Given the description of an element on the screen output the (x, y) to click on. 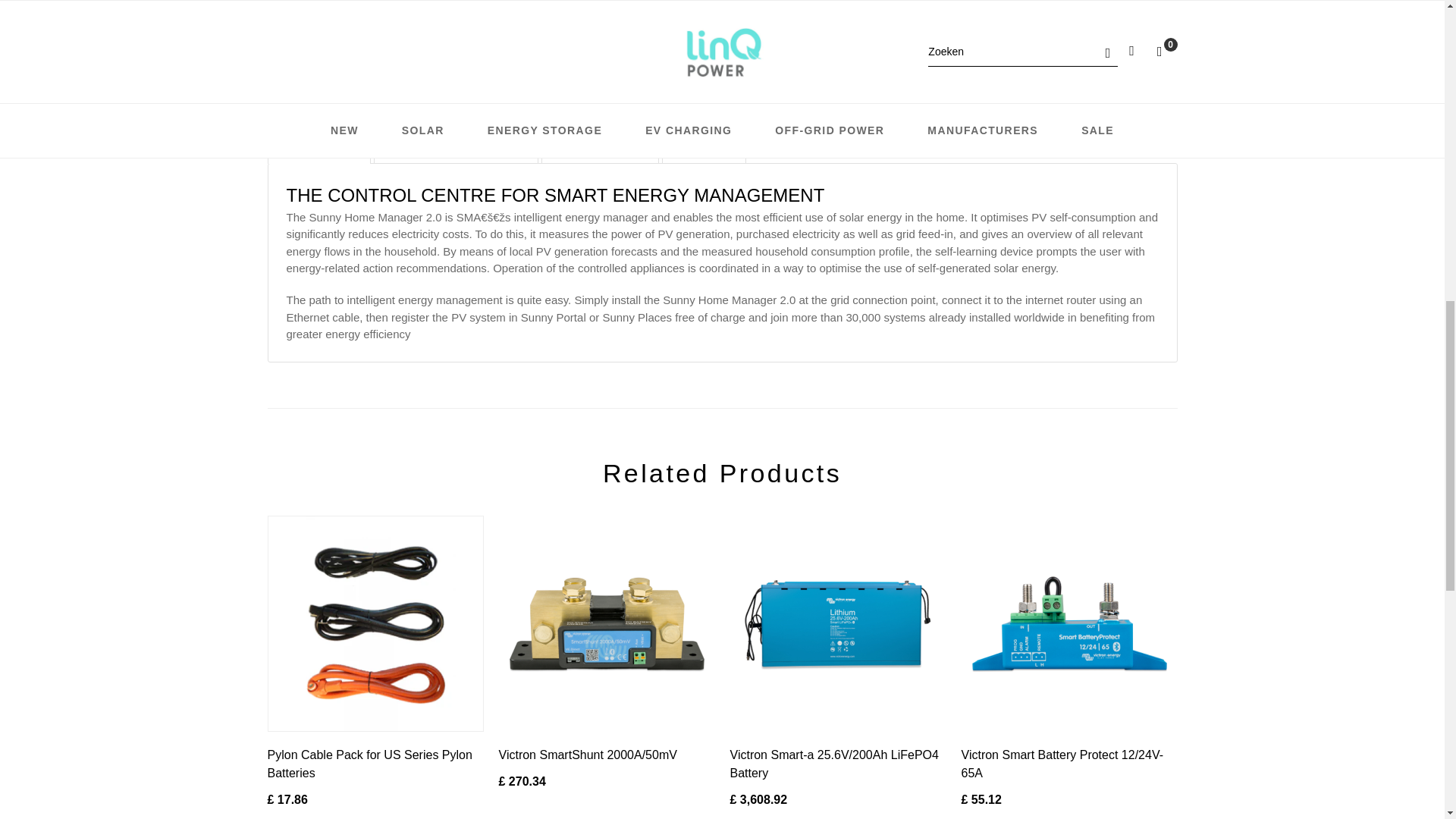
Pylon Cable Pack for US Series Pylon Batteries (368, 763)
